Given the description of an element on the screen output the (x, y) to click on. 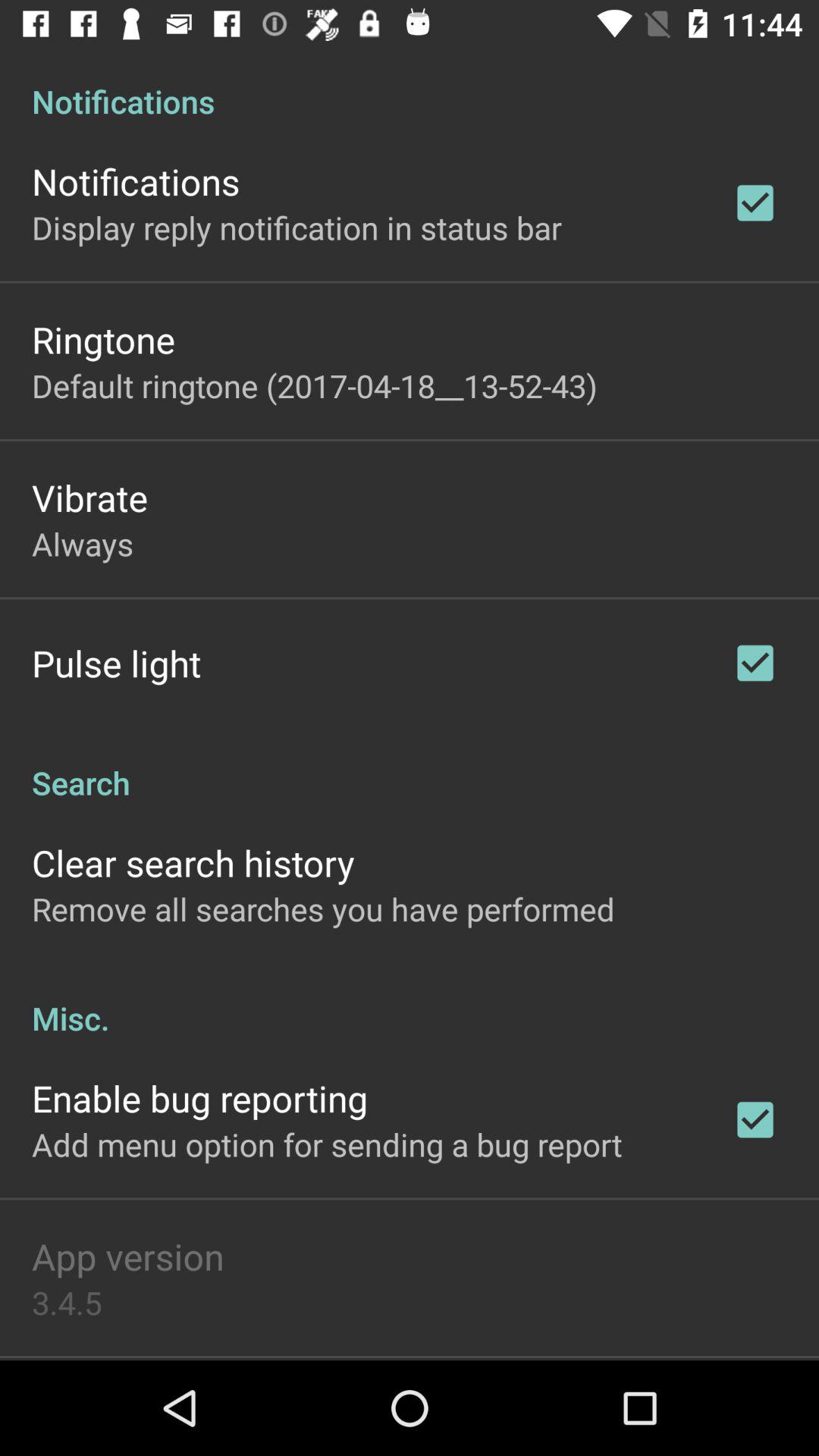
tap the item below remove all searches item (409, 1001)
